Given the description of an element on the screen output the (x, y) to click on. 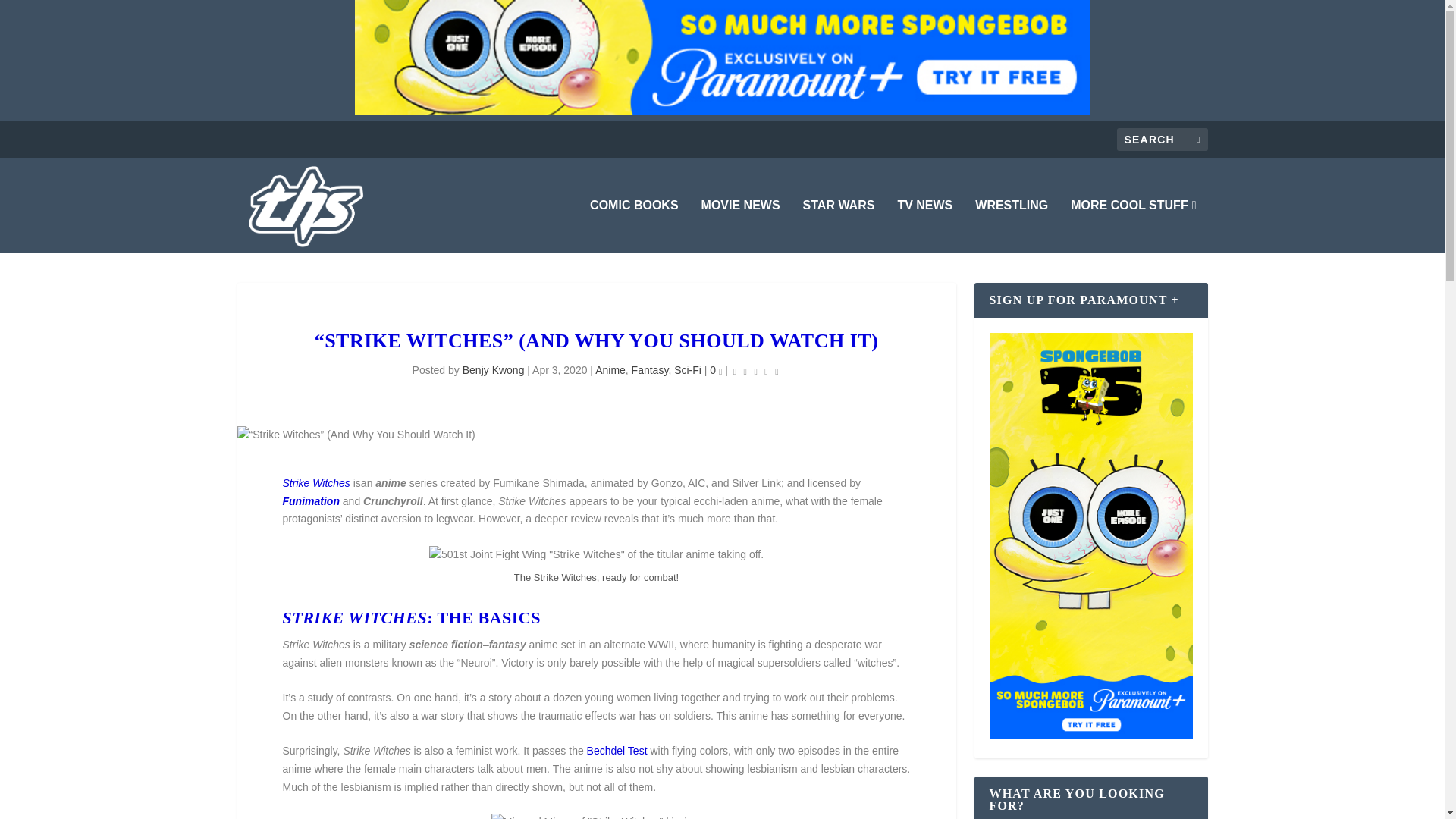
MOVIE NEWS (740, 225)
WRESTLING (1011, 225)
Funimation (310, 500)
Fantasy (649, 369)
Rating: 4.00 (755, 370)
Bechdel Test (616, 750)
Anime (610, 369)
Posts by Benjy Kwong (493, 369)
MORE COOL STUFF (1132, 225)
STAR WARS (839, 225)
Benjy Kwong (493, 369)
Sci-Fi (687, 369)
COMIC BOOKS (633, 225)
TV NEWS (924, 225)
Strike Witches (315, 482)
